Given the description of an element on the screen output the (x, y) to click on. 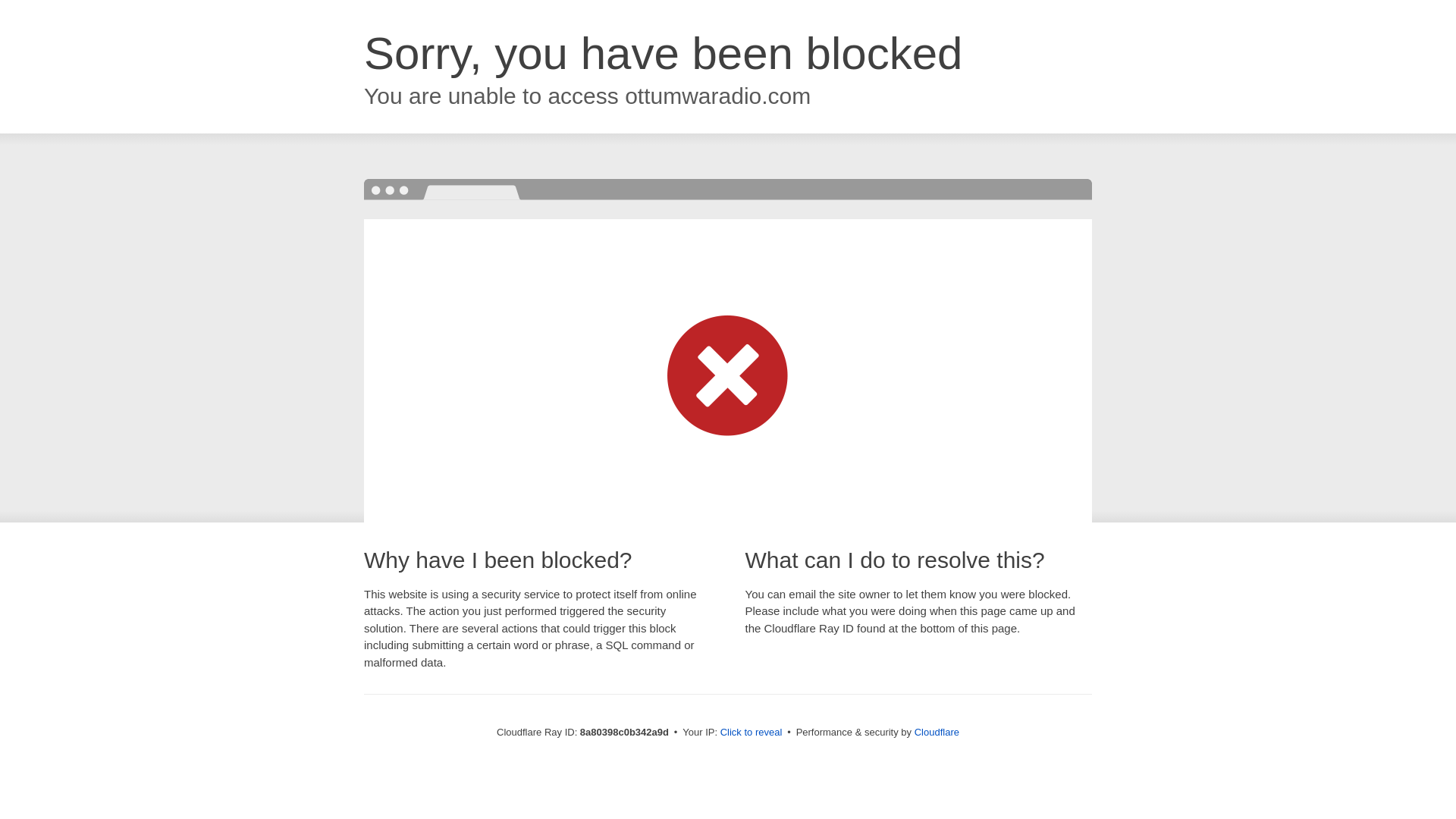
Cloudflare (936, 731)
Click to reveal (751, 732)
